Given the description of an element on the screen output the (x, y) to click on. 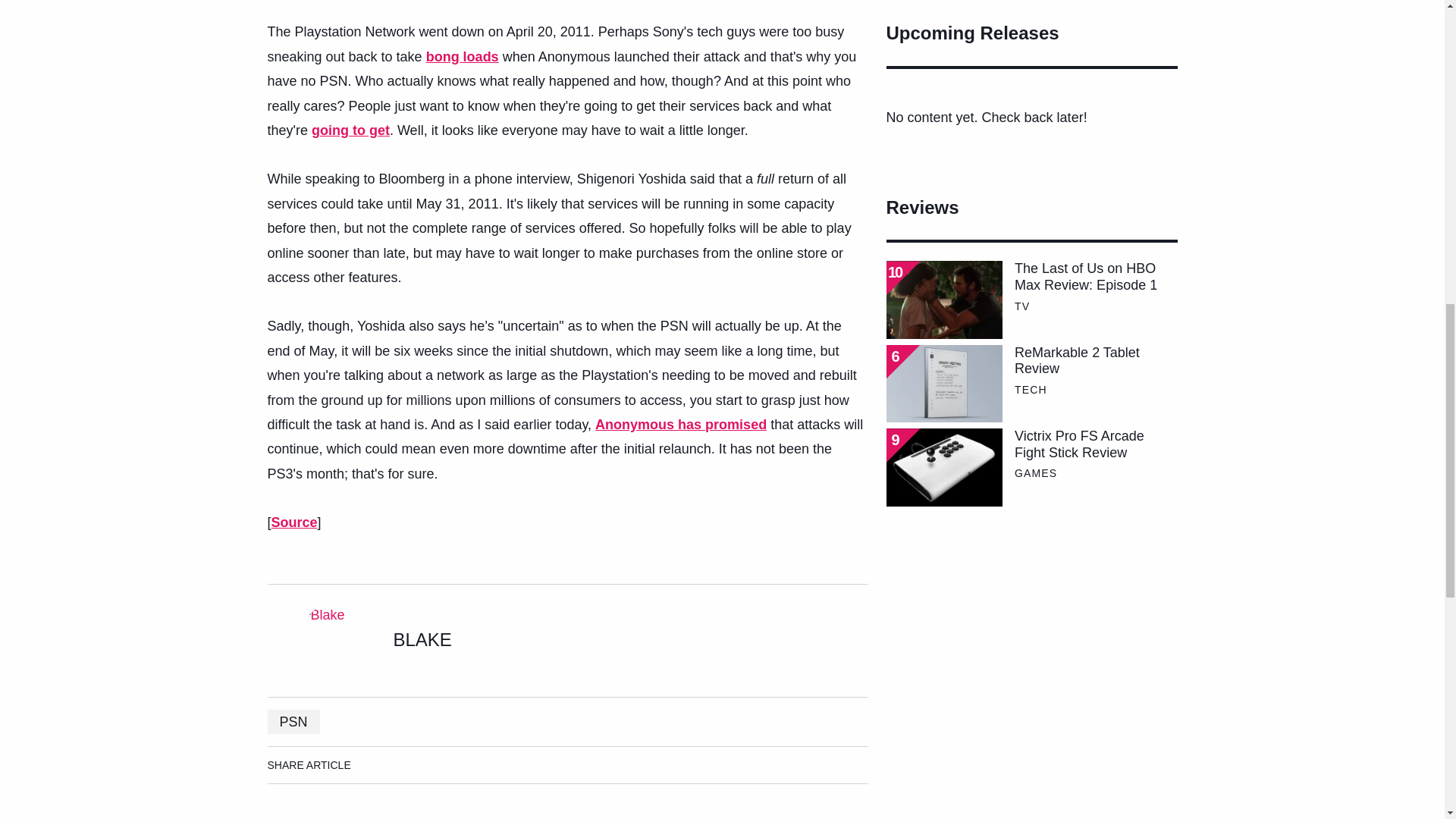
The Last of Us on HBO Max Review: Episode 1 (944, 299)
ReMarkable 2 Tablet Review (944, 383)
going to get (350, 130)
GameRevolution Game Grade (902, 361)
Victrix Pro FS Arcade Fight Stick Review (1095, 444)
bong loads (462, 56)
GameRevolution Game Grade (902, 445)
3rd party ad content (1030, 649)
ReMarkable 2 Tablet Review (1095, 360)
GameRevolution Game Grade (902, 277)
The Last of Us on HBO Max Review: Episode 1 (1095, 277)
Victrix Pro FS Arcade Fight Stick Review (944, 467)
No content yet. Check back later! (1030, 117)
